Given the description of an element on the screen output the (x, y) to click on. 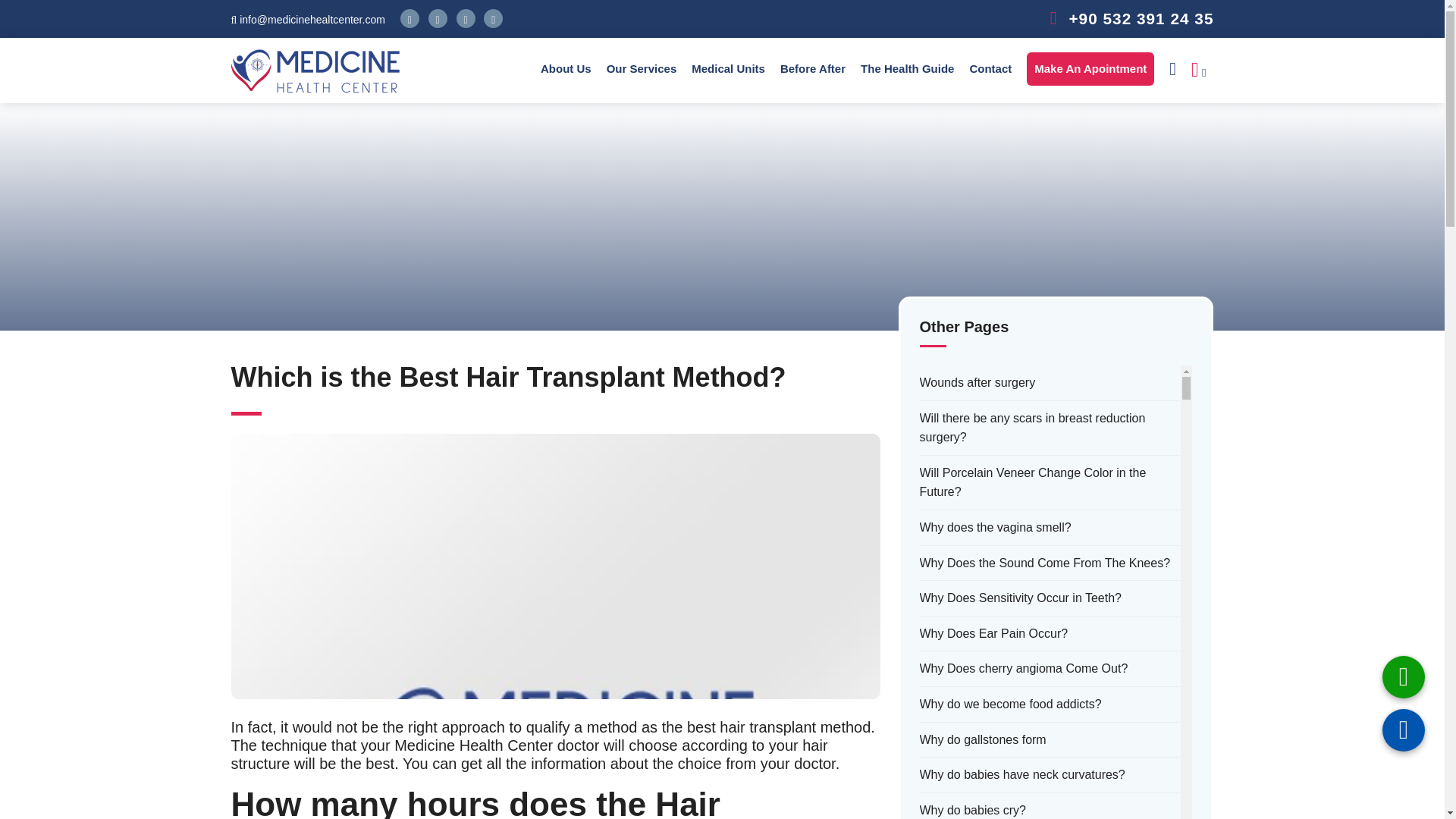
Before After (813, 68)
Why do babies cry? (972, 809)
Will there be any scars in breast reduction surgery? (1049, 427)
Medicine Health Center (314, 70)
Why do gallstones form (981, 740)
Will there be any scars in breast reduction surgery? (1049, 427)
Why Does the Sound Come From The Knees? (1044, 563)
Why do gallstones form (981, 740)
Why Does Sensitivity Occur in Teeth? (1019, 598)
Our Services (641, 68)
Wounds after surgery (976, 383)
About Us (565, 68)
Why does the vagina smell? (994, 527)
Why Does Ear Pain Occur? (992, 633)
Make An Apointment (1090, 68)
